Given the description of an element on the screen output the (x, y) to click on. 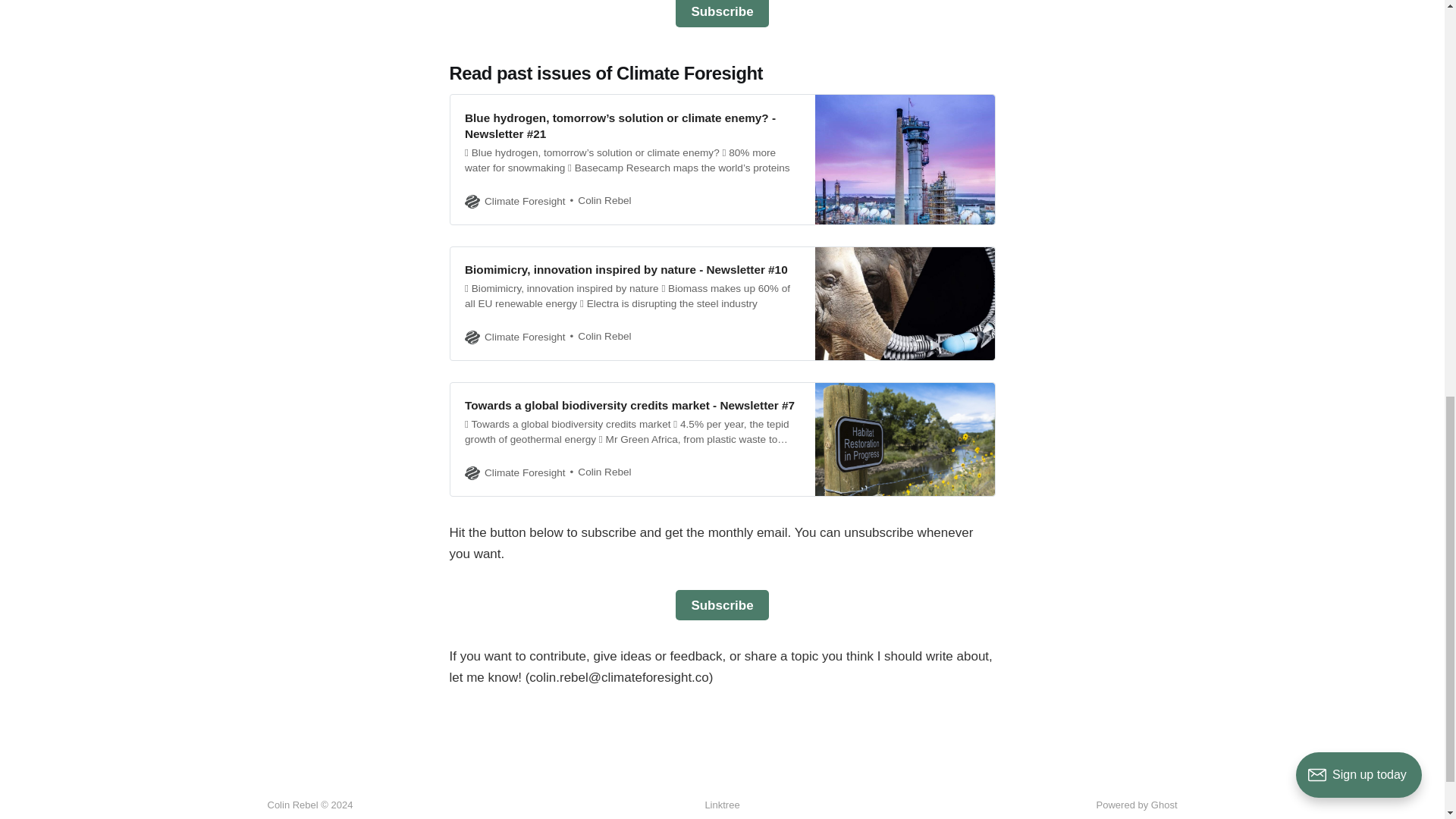
Subscribe (721, 13)
Linktree (721, 805)
Powered by Ghost (1136, 804)
Subscribe (721, 604)
